Given the description of an element on the screen output the (x, y) to click on. 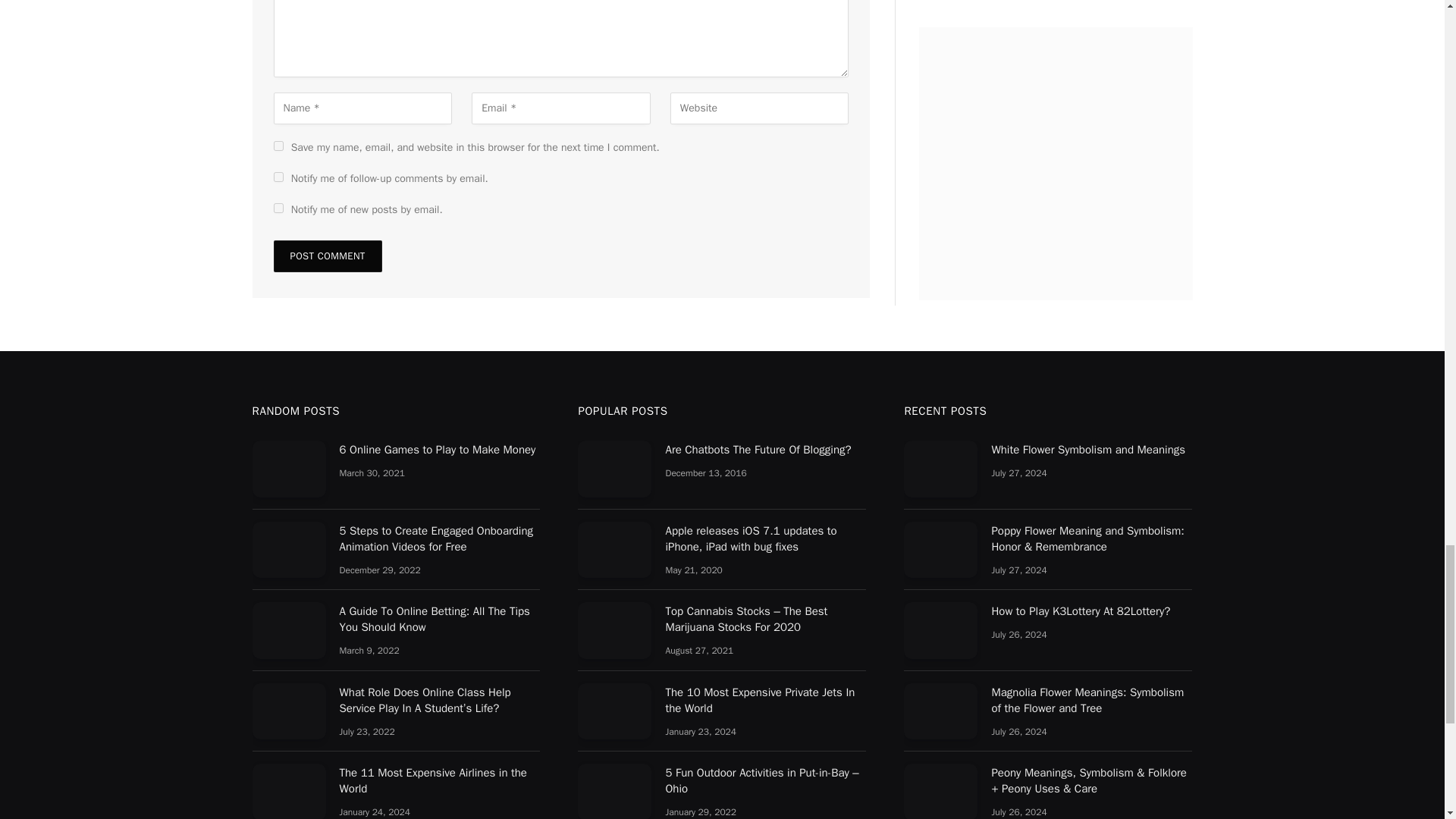
subscribe (277, 207)
yes (277, 145)
subscribe (277, 176)
Post Comment (327, 255)
